Given the description of an element on the screen output the (x, y) to click on. 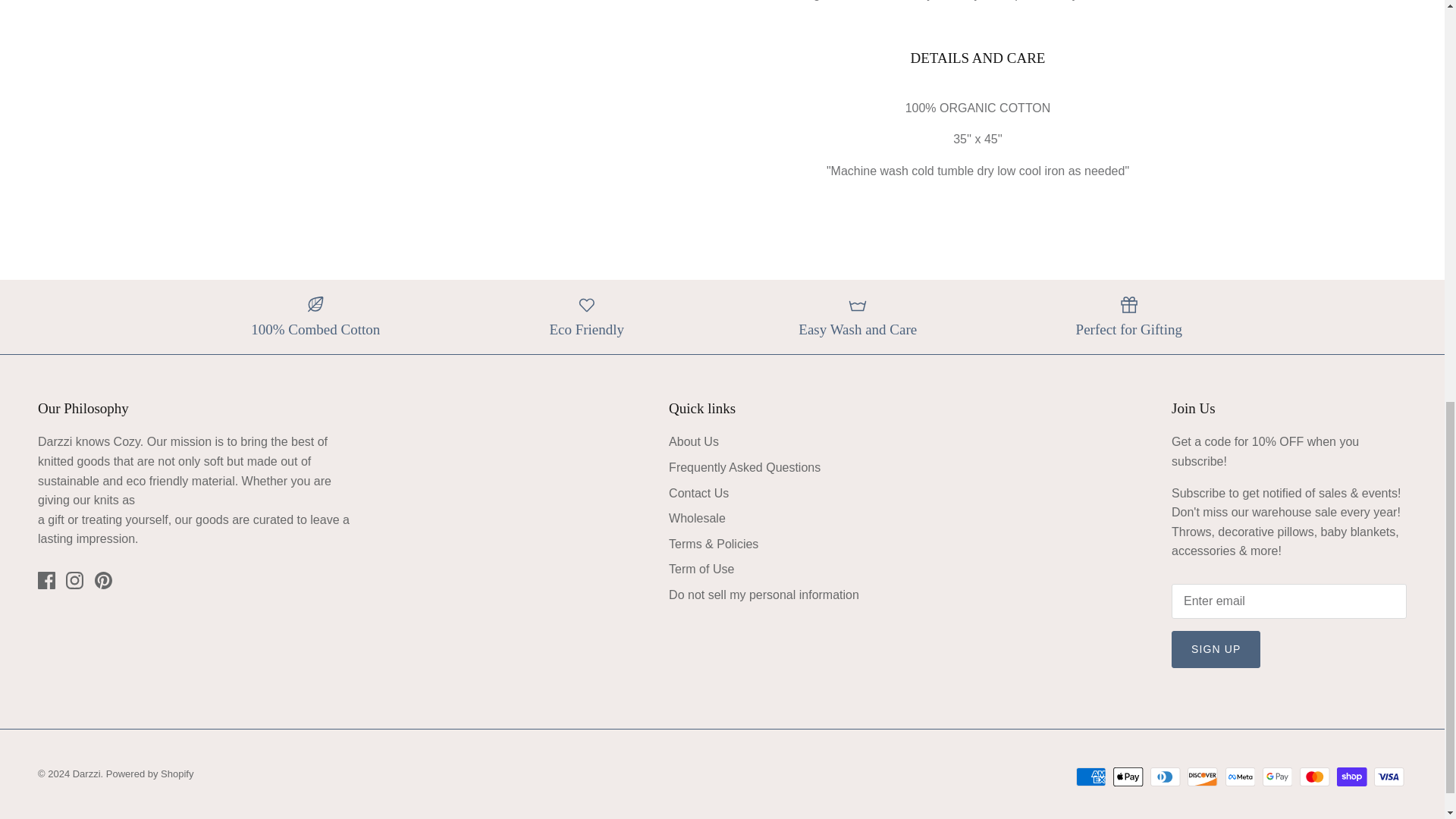
Instagram (73, 579)
Facebook (46, 579)
Pinterest (103, 579)
